Given the description of an element on the screen output the (x, y) to click on. 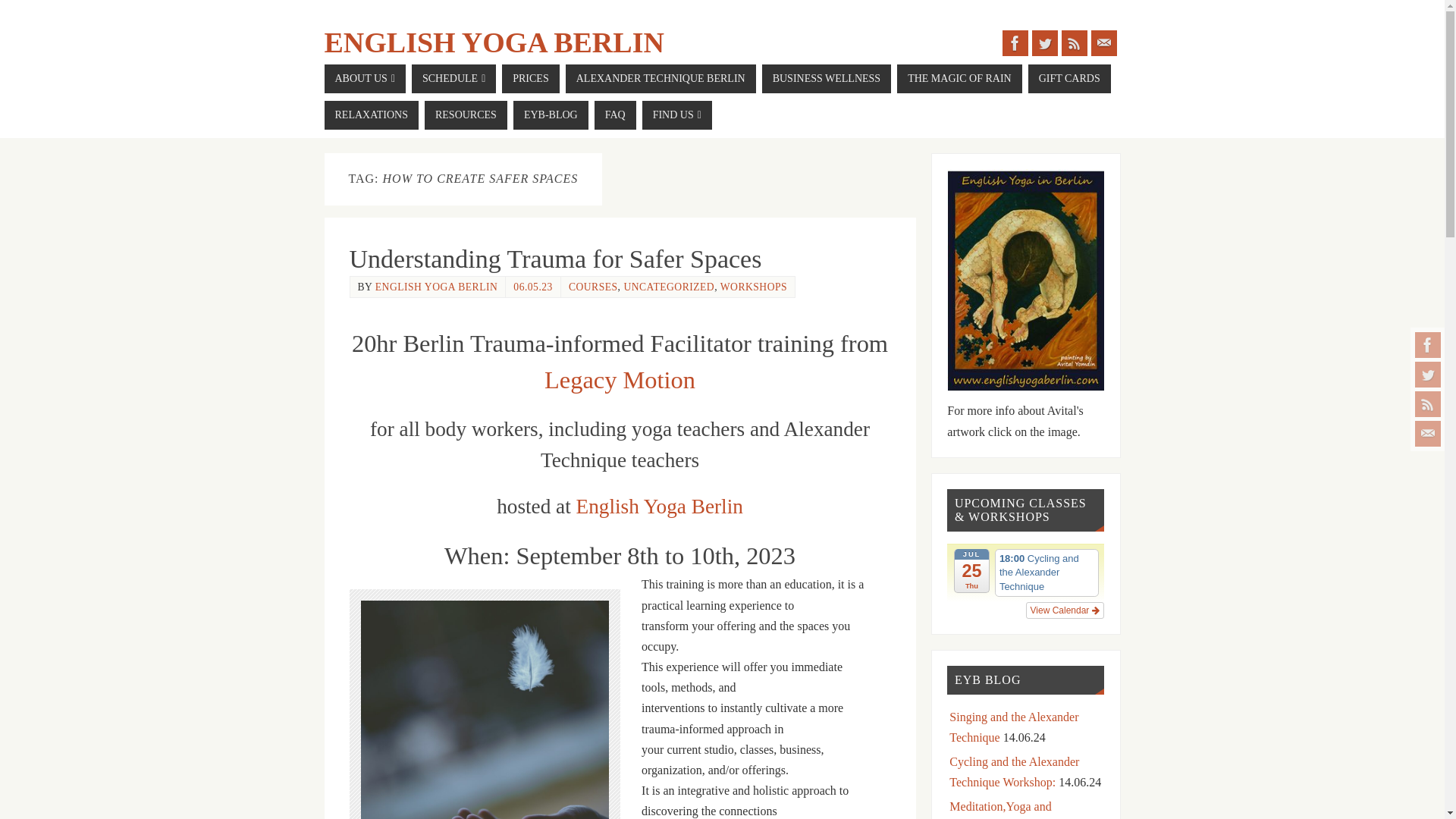
Mail (1428, 433)
EYB-BLOG (550, 114)
ENGLISH YOGA BERLIN (493, 42)
SCHEDULE (454, 78)
RESOURCES (465, 114)
Facebook (1015, 43)
Facebook (1428, 344)
English Yoga Berlin (493, 42)
View all posts by English Yoga Berlin (436, 286)
ABOUT US (365, 78)
BUSINESS WELLNESS (826, 78)
English Yoga Berlin (659, 506)
Mail (1103, 43)
FAQ (615, 114)
FIND US (676, 114)
